Given the description of an element on the screen output the (x, y) to click on. 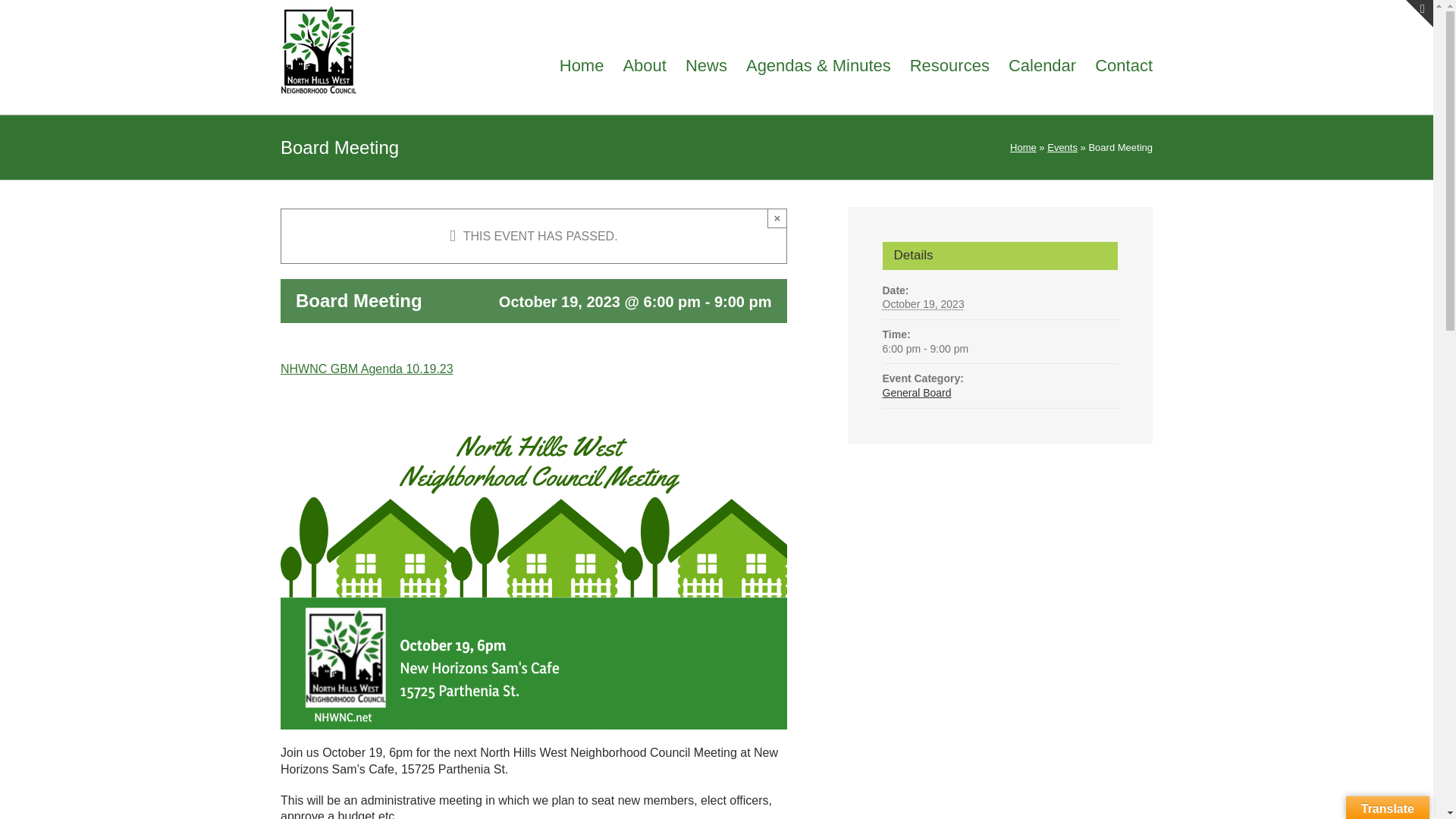
NHWNC GBM Agenda 10.19.23 (366, 368)
NHWNC GBM Agenda 10.19.23 (366, 368)
2023-10-19 (922, 304)
Events (1061, 147)
Home (1023, 147)
Resources (950, 63)
2023-10-19 (1000, 349)
Calendar (1042, 63)
Contact (1123, 63)
